Given the description of an element on the screen output the (x, y) to click on. 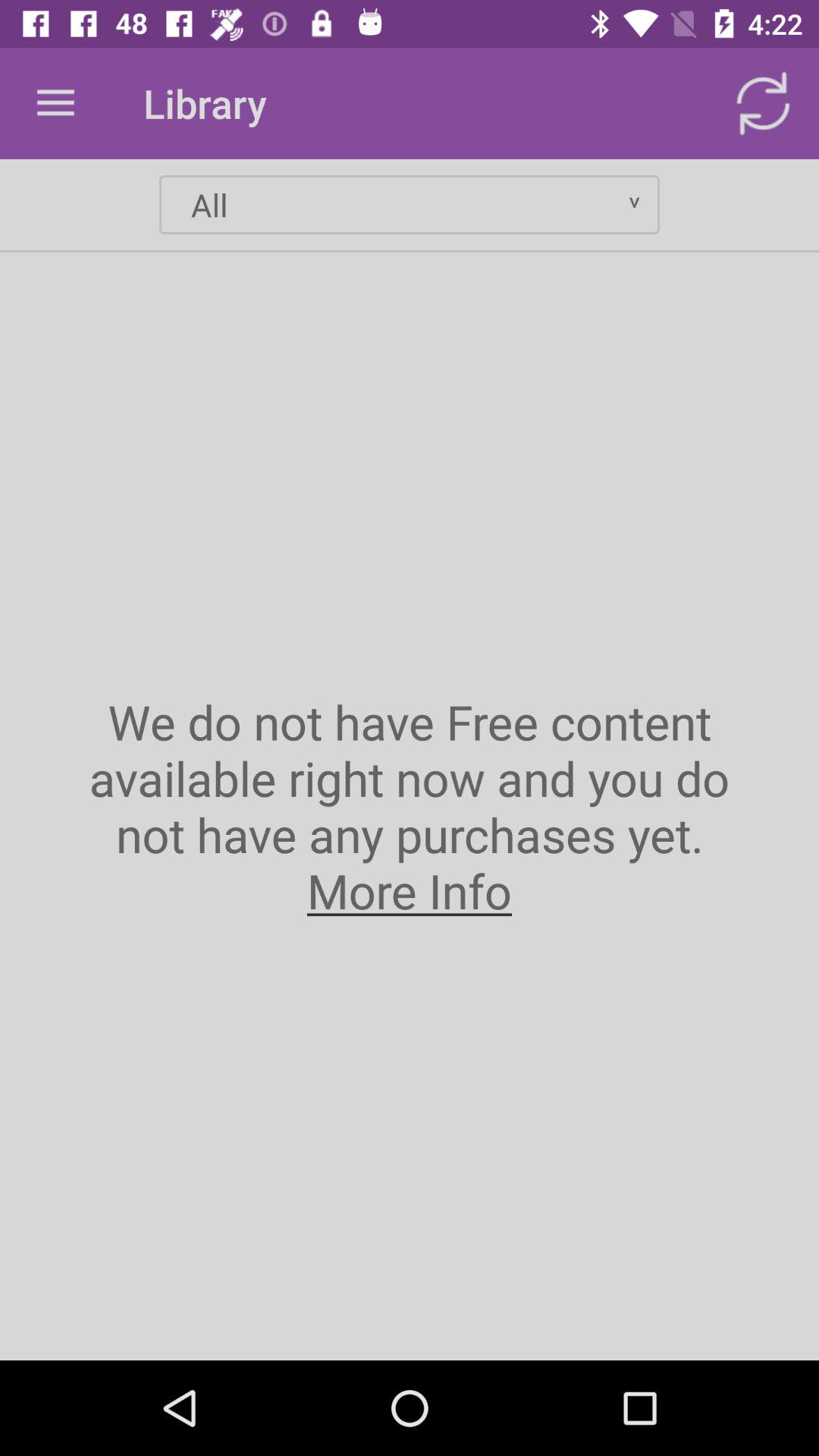
click the icon at the center (409, 805)
